Given the description of an element on the screen output the (x, y) to click on. 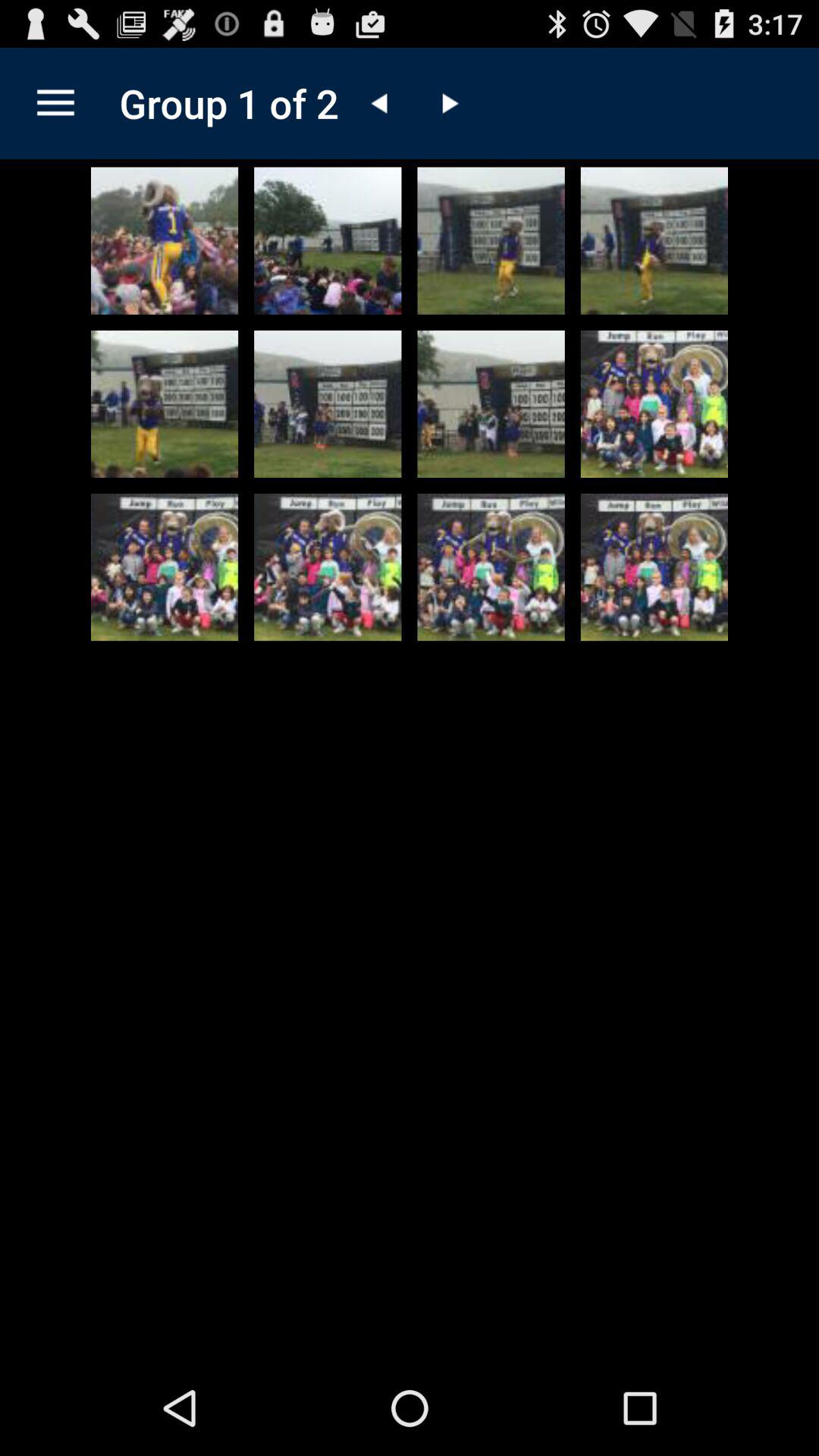
more options (55, 103)
